Given the description of an element on the screen output the (x, y) to click on. 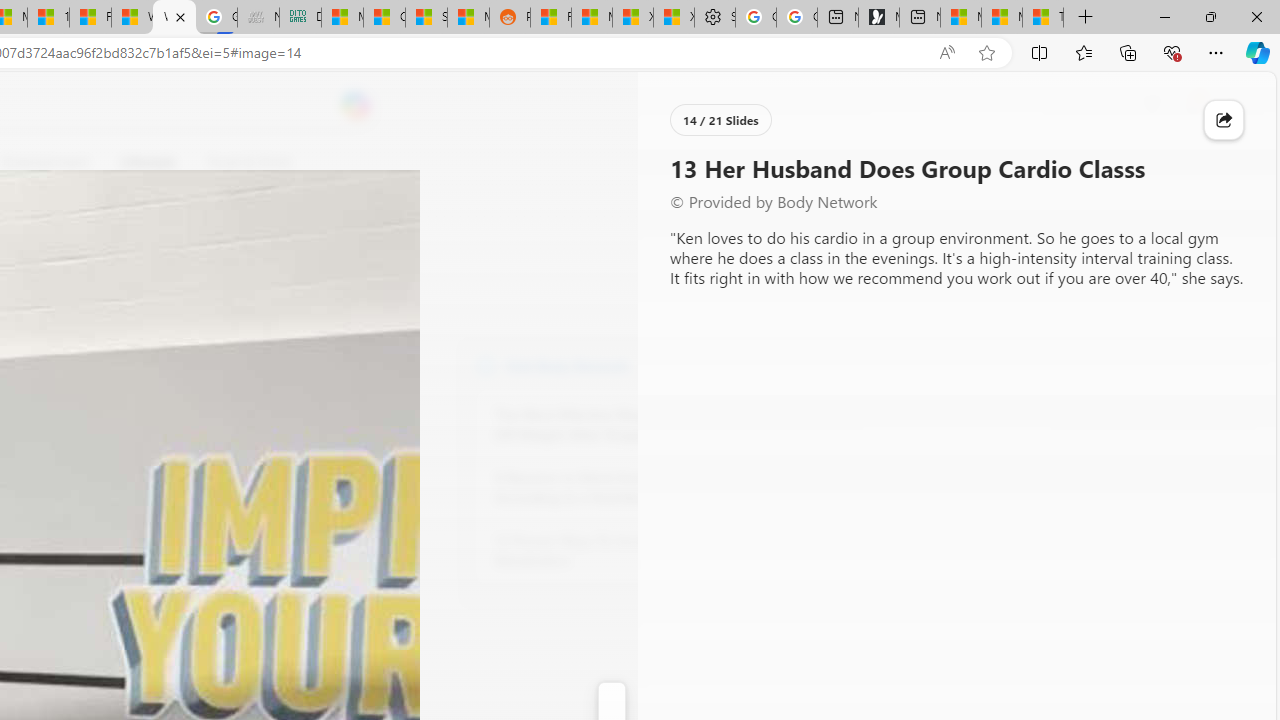
These 3 Stocks Pay You More Than 5% to Own Them (1042, 17)
Class: at-item immersive (1224, 120)
Share this story (1224, 119)
